Given the description of an element on the screen output the (x, y) to click on. 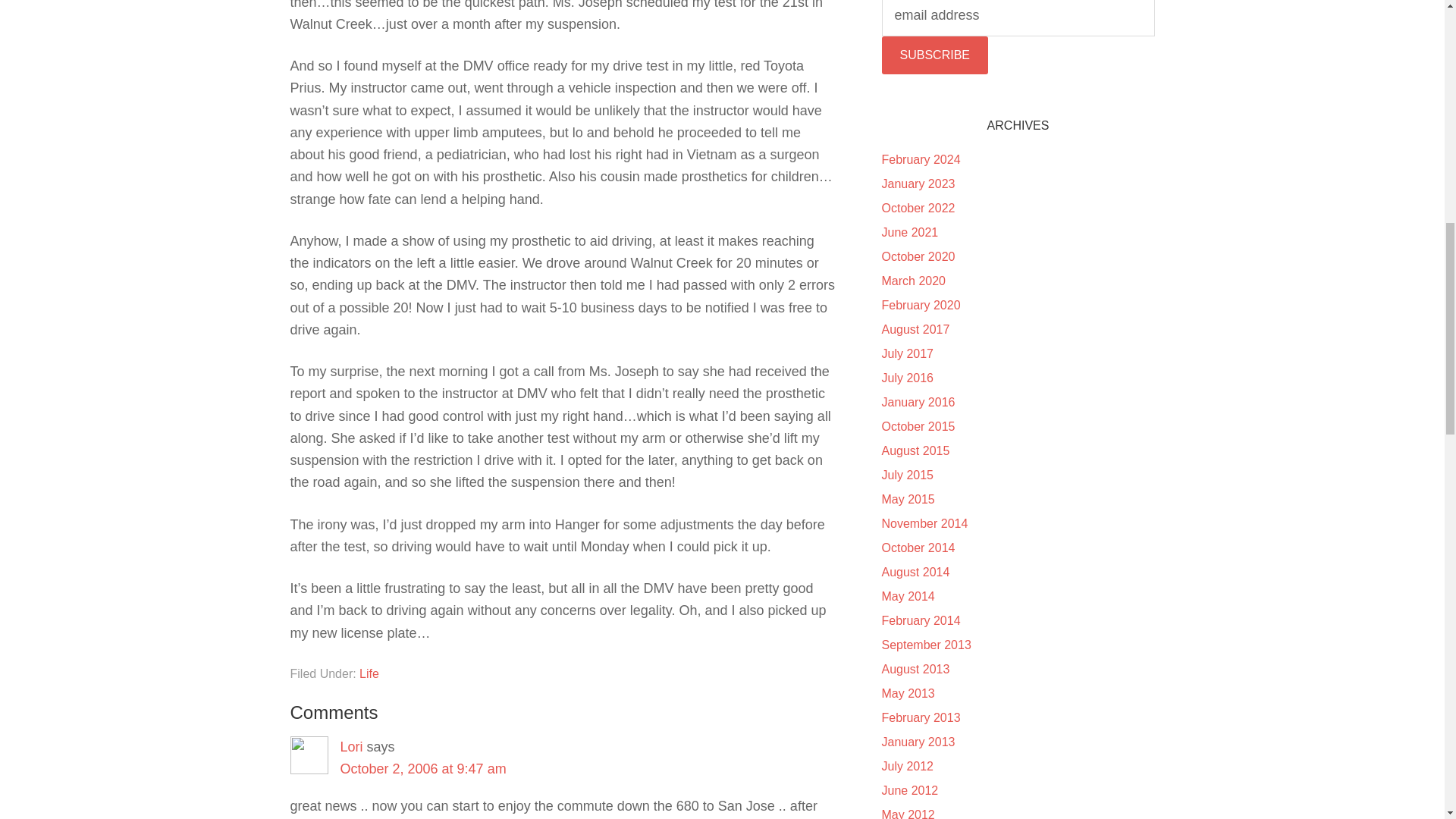
February 2024 (919, 159)
February 2014 (919, 620)
August 2017 (914, 328)
March 2020 (912, 280)
September 2013 (925, 644)
July 2017 (906, 353)
August 2015 (914, 450)
May 2014 (907, 595)
August 2013 (914, 668)
October 2020 (917, 256)
October 2015 (917, 426)
October 2022 (917, 207)
January 2016 (917, 401)
June 2021 (908, 232)
Lori (350, 746)
